Given the description of an element on the screen output the (x, y) to click on. 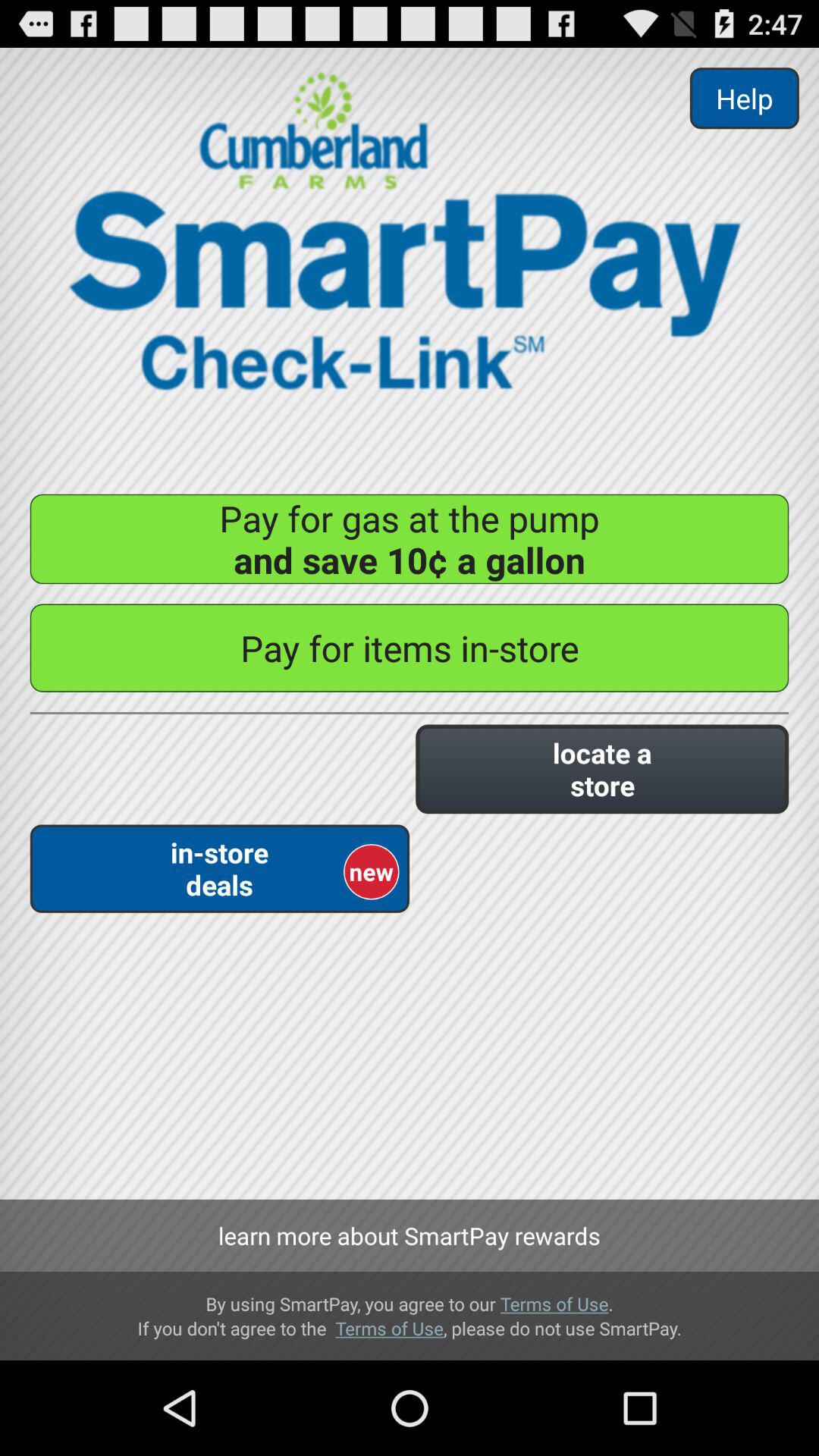
flip to locate a
store icon (601, 768)
